Given the description of an element on the screen output the (x, y) to click on. 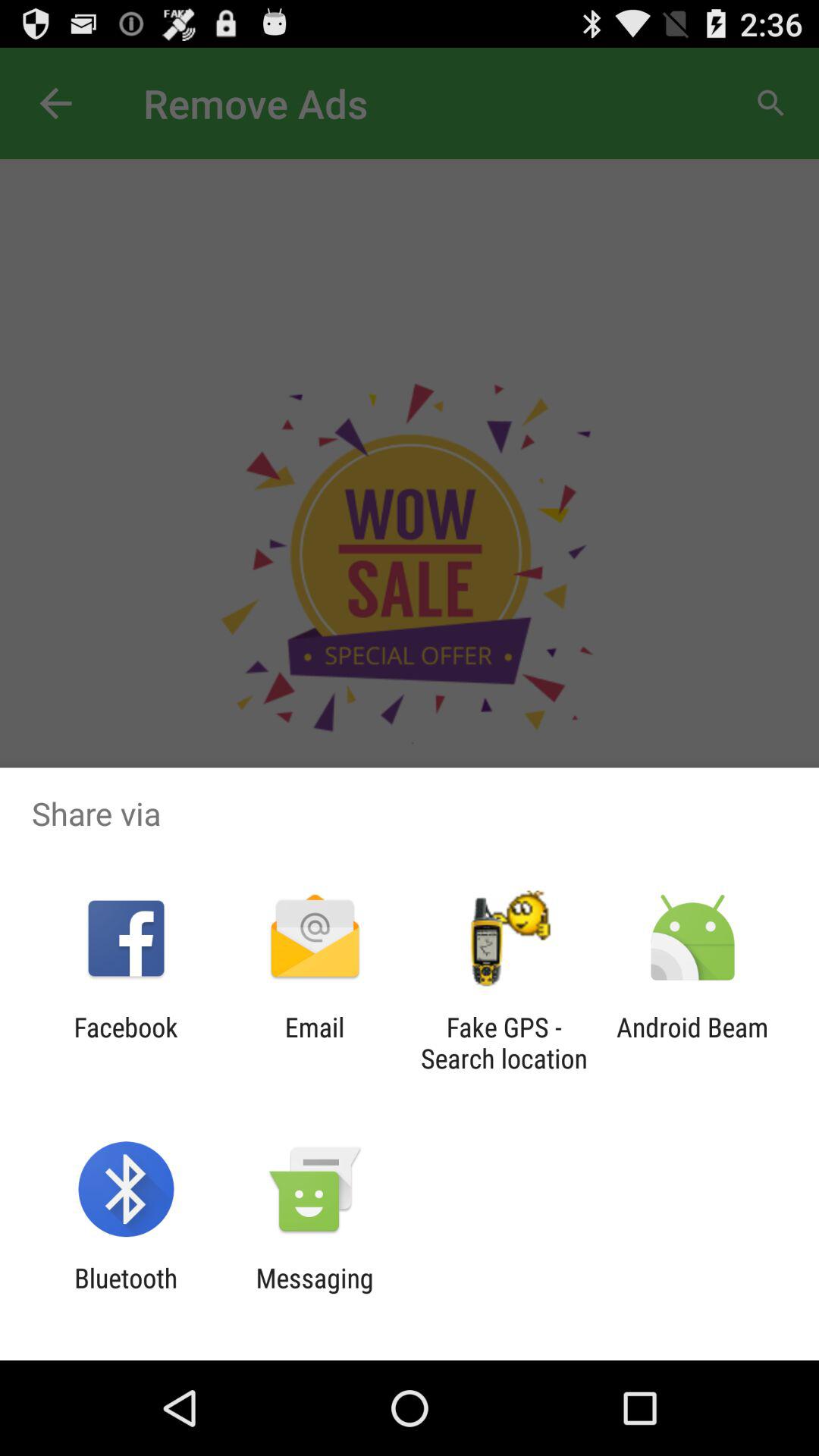
jump until email (314, 1042)
